Given the description of an element on the screen output the (x, y) to click on. 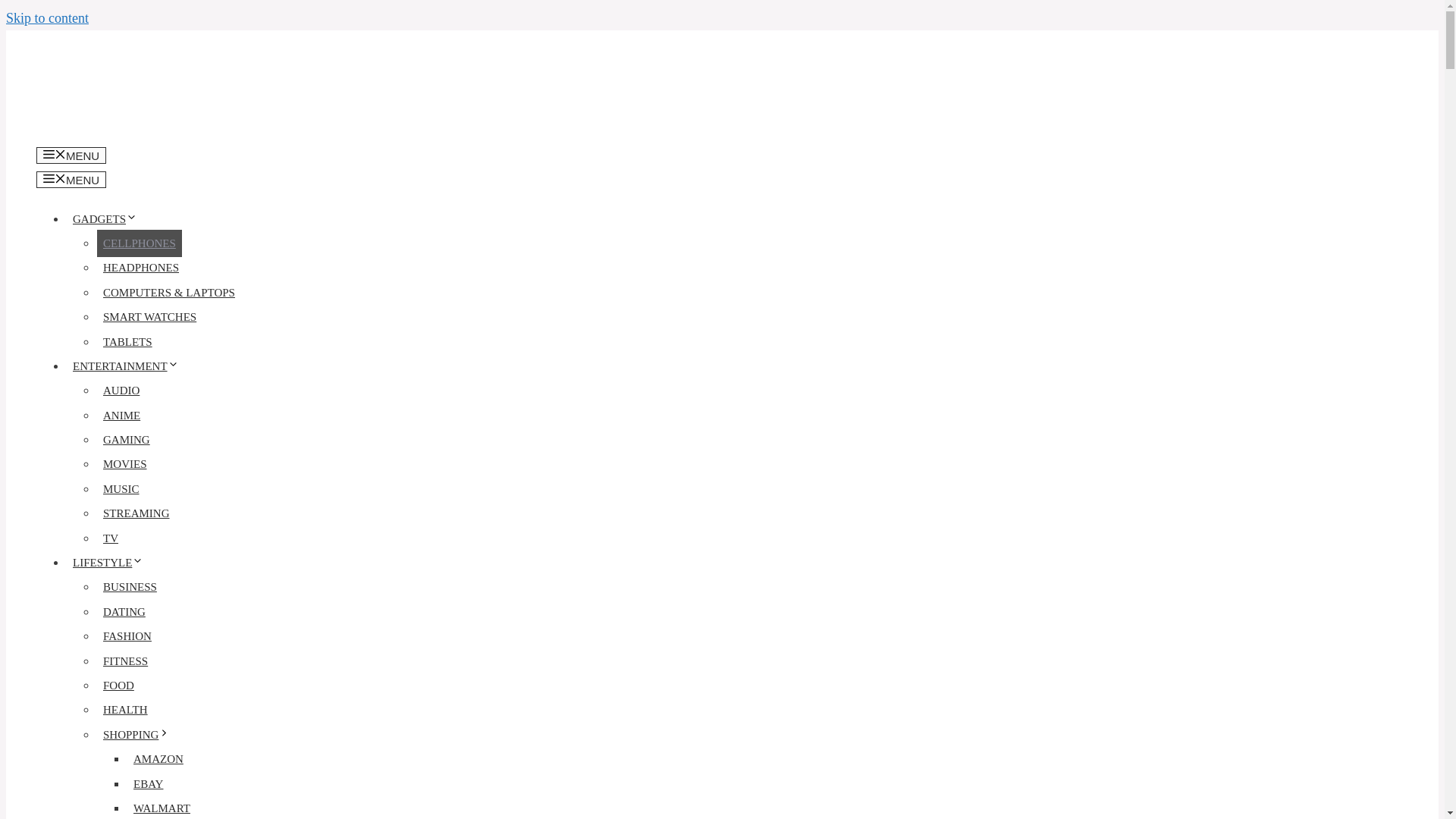
HEALTH (125, 709)
Skip to content (46, 17)
STREAMING (136, 513)
TV (110, 538)
ENTERTAINMENT (128, 366)
FITNESS (125, 660)
HEADPHONES (140, 267)
EBAY (148, 783)
GADGETS (107, 218)
FOOD (118, 685)
AUDIO (121, 390)
MOVIES (124, 463)
WALMART (162, 806)
LIFESTYLE (110, 562)
CELLPHONES (139, 243)
